Given the description of an element on the screen output the (x, y) to click on. 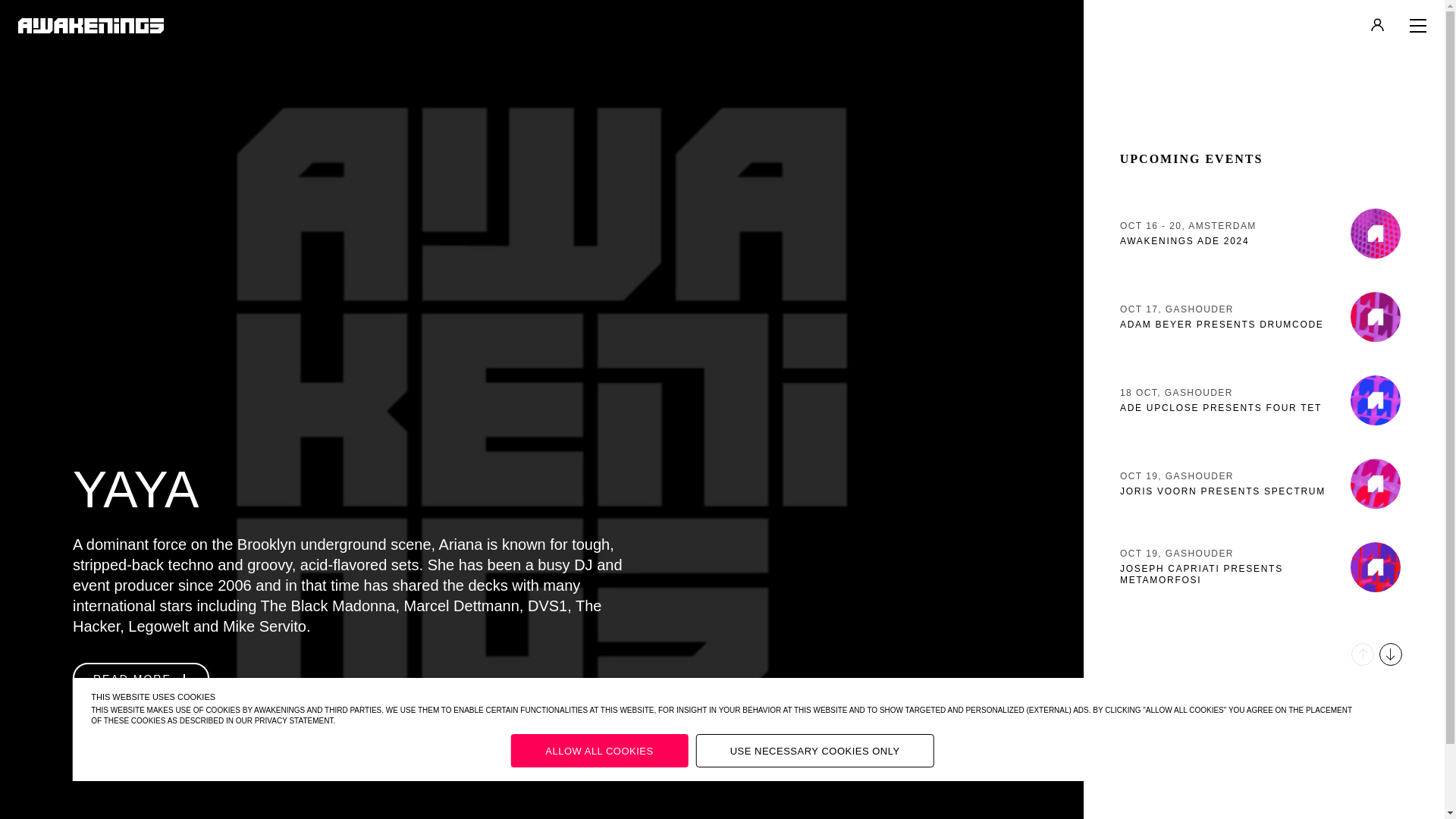
READ MORE (140, 677)
Awakenings (1263, 483)
ALLOW ALL COOKIES (1263, 316)
USE NECESSARY COOKIES ONLY (1263, 233)
Awakenings (90, 25)
